Given the description of an element on the screen output the (x, y) to click on. 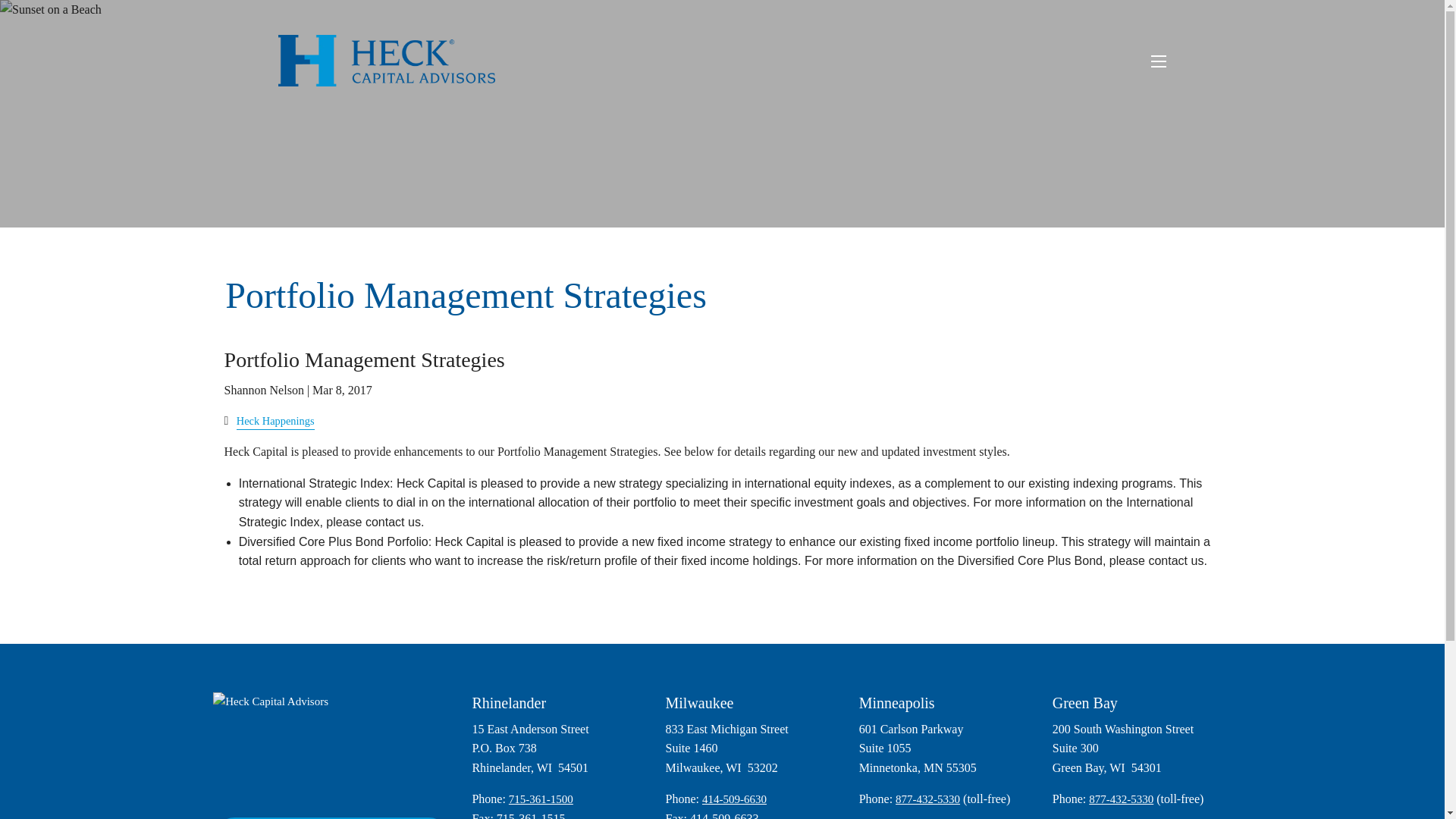
877-432-5330 (1121, 799)
Heck Happenings (274, 420)
414-509-6630 (734, 799)
715-361-1500 (540, 799)
877-432-5330 (927, 799)
